Given the description of an element on the screen output the (x, y) to click on. 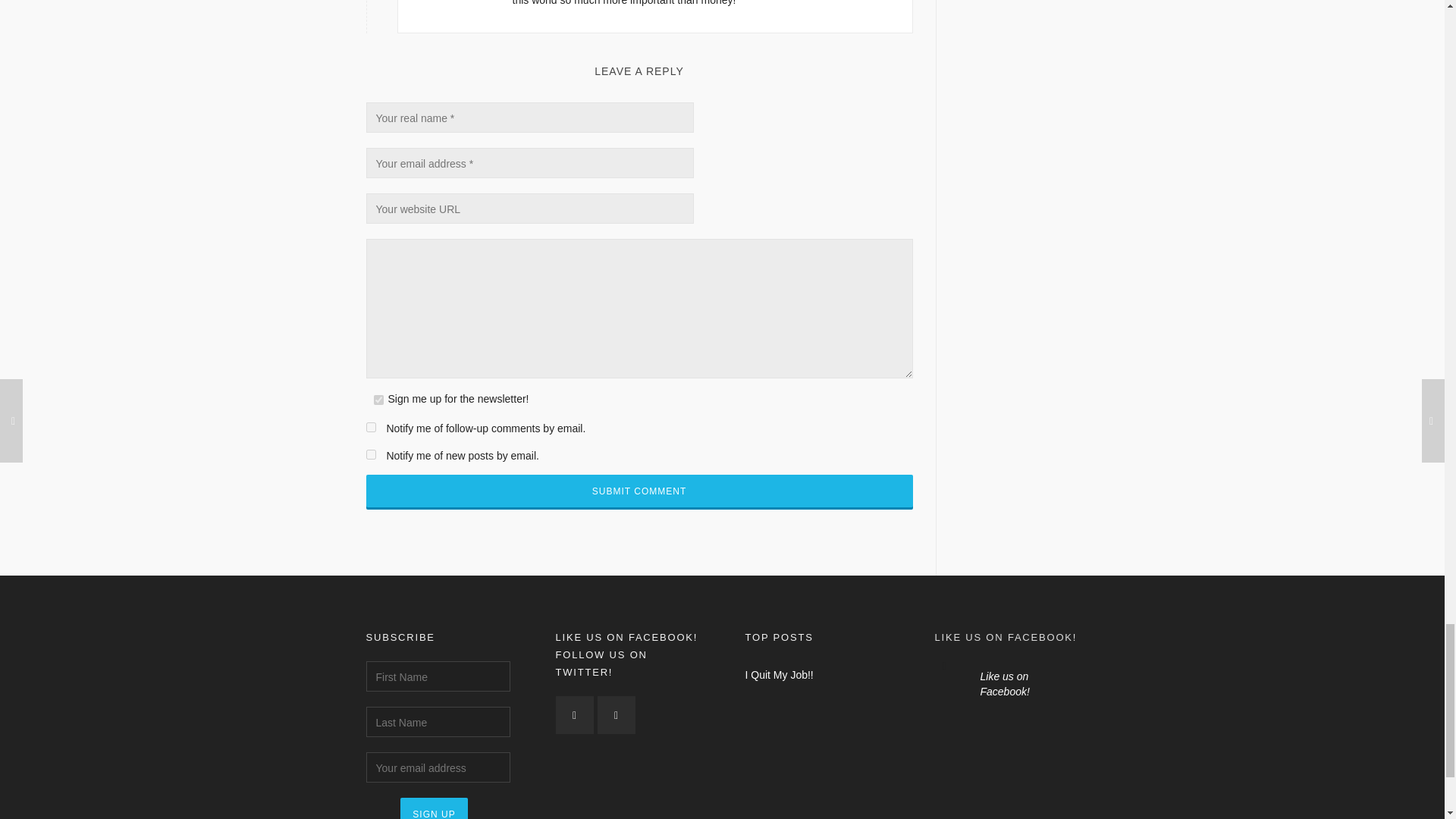
subscribe (370, 454)
1 (377, 399)
Submit Comment (638, 491)
subscribe (370, 427)
Sign up (433, 808)
